Given the description of an element on the screen output the (x, y) to click on. 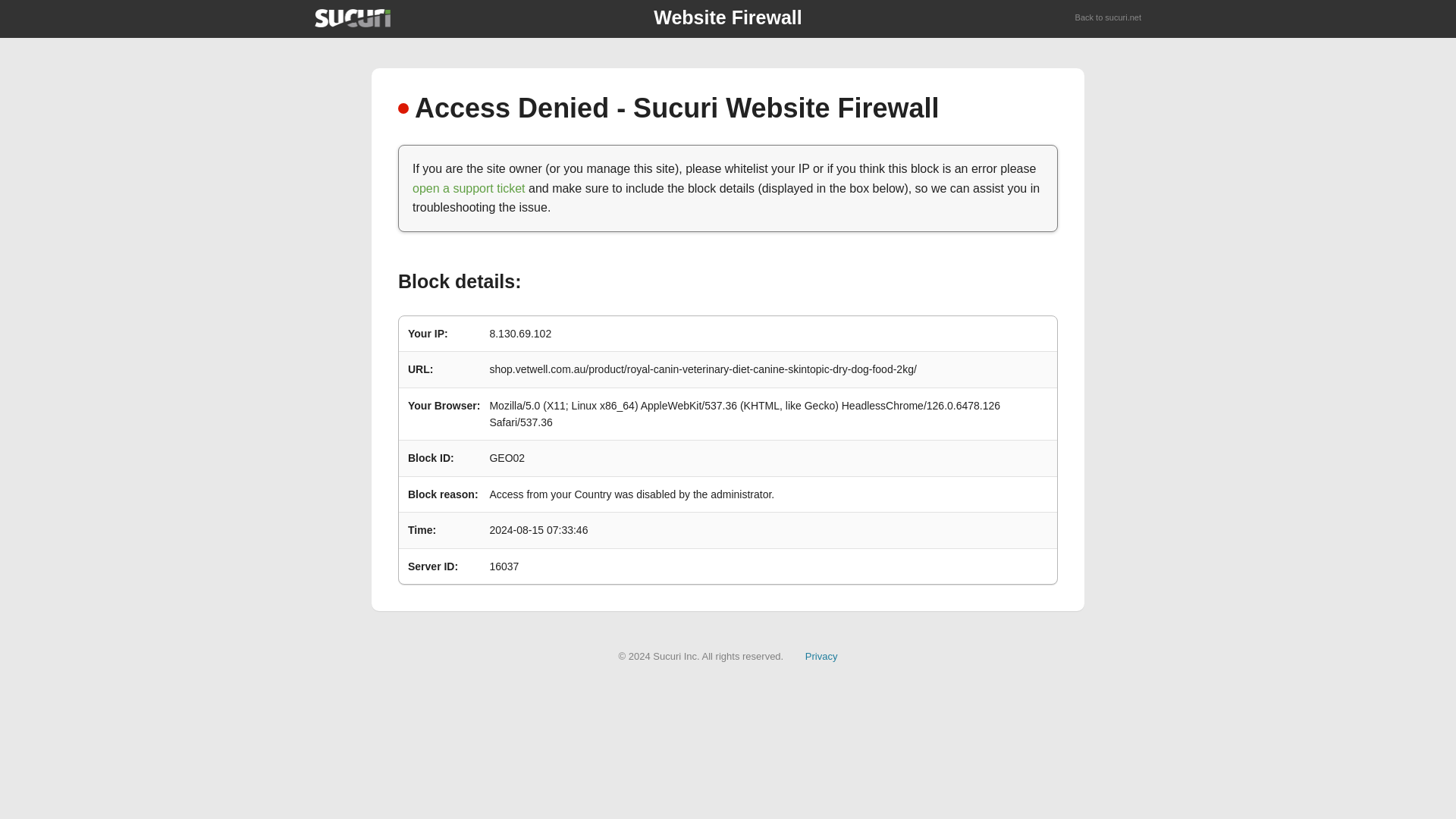
open a support ticket (468, 187)
Privacy (821, 655)
Back to sucuri.net (1108, 18)
